Given the description of an element on the screen output the (x, y) to click on. 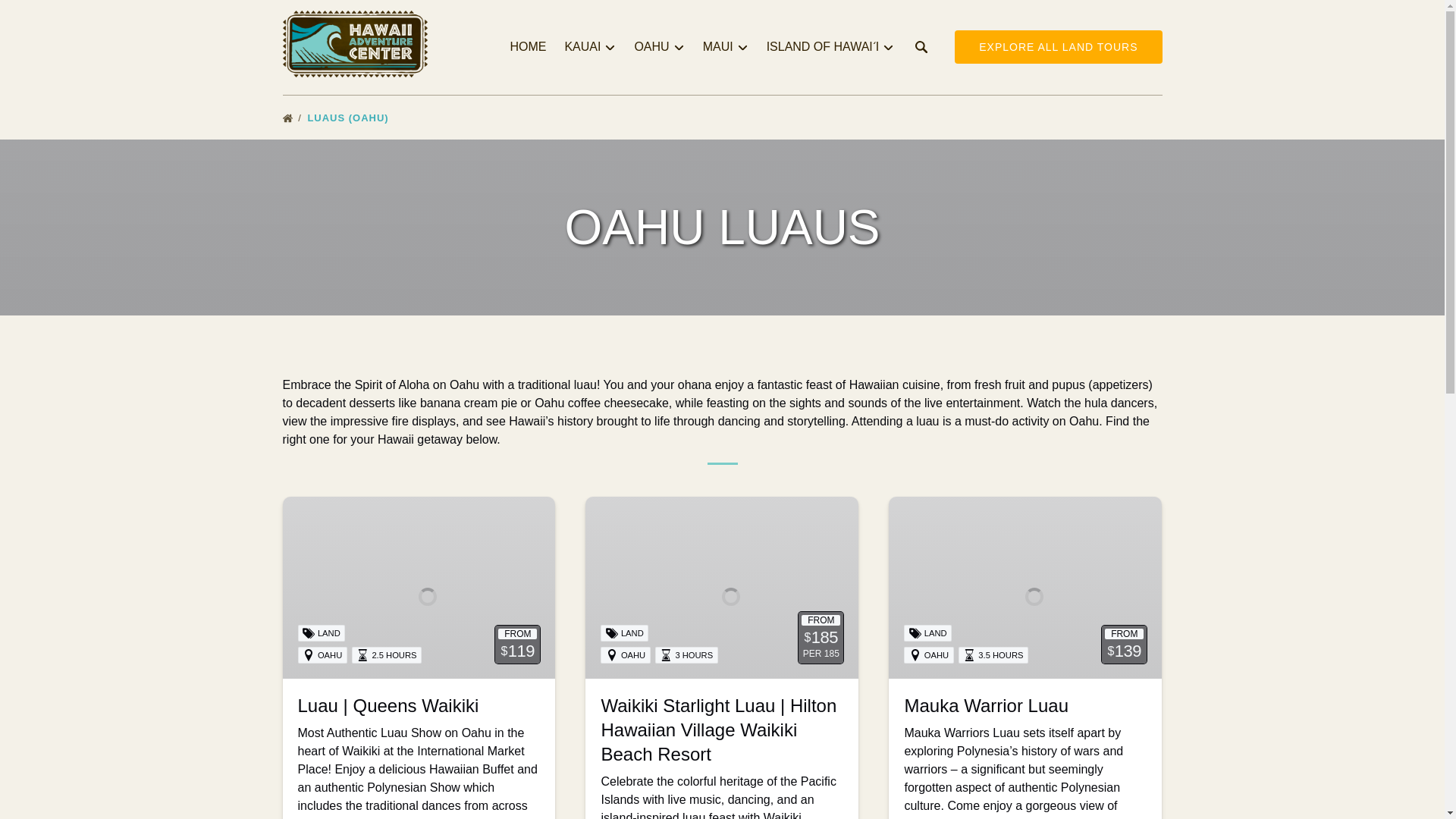
KAUAI (589, 46)
MAUI (725, 46)
Open Oahu Menu (662, 42)
Skip to content (47, 16)
Skip to primary navigation (77, 16)
Open Kauai Menu (593, 42)
OAHU (658, 46)
Open Maui Menu (729, 42)
Skip to footer (42, 16)
HOME (527, 46)
